Given the description of an element on the screen output the (x, y) to click on. 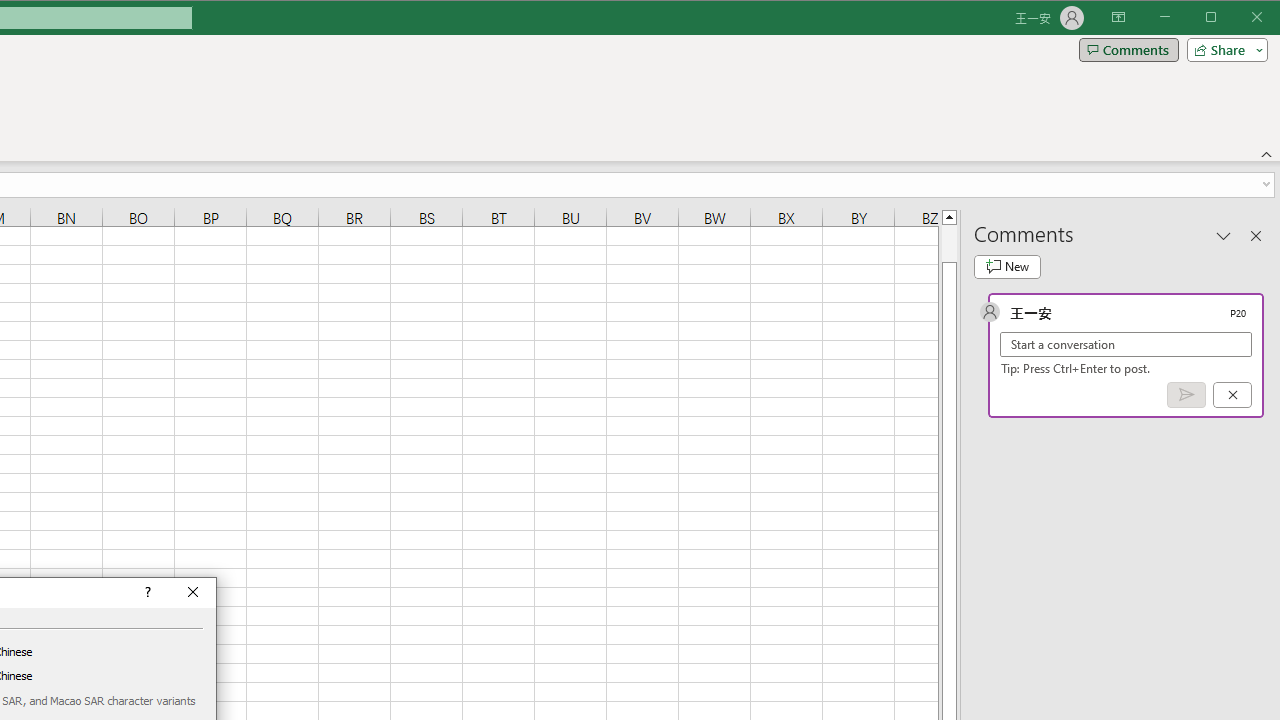
Page up (948, 243)
